Given the description of an element on the screen output the (x, y) to click on. 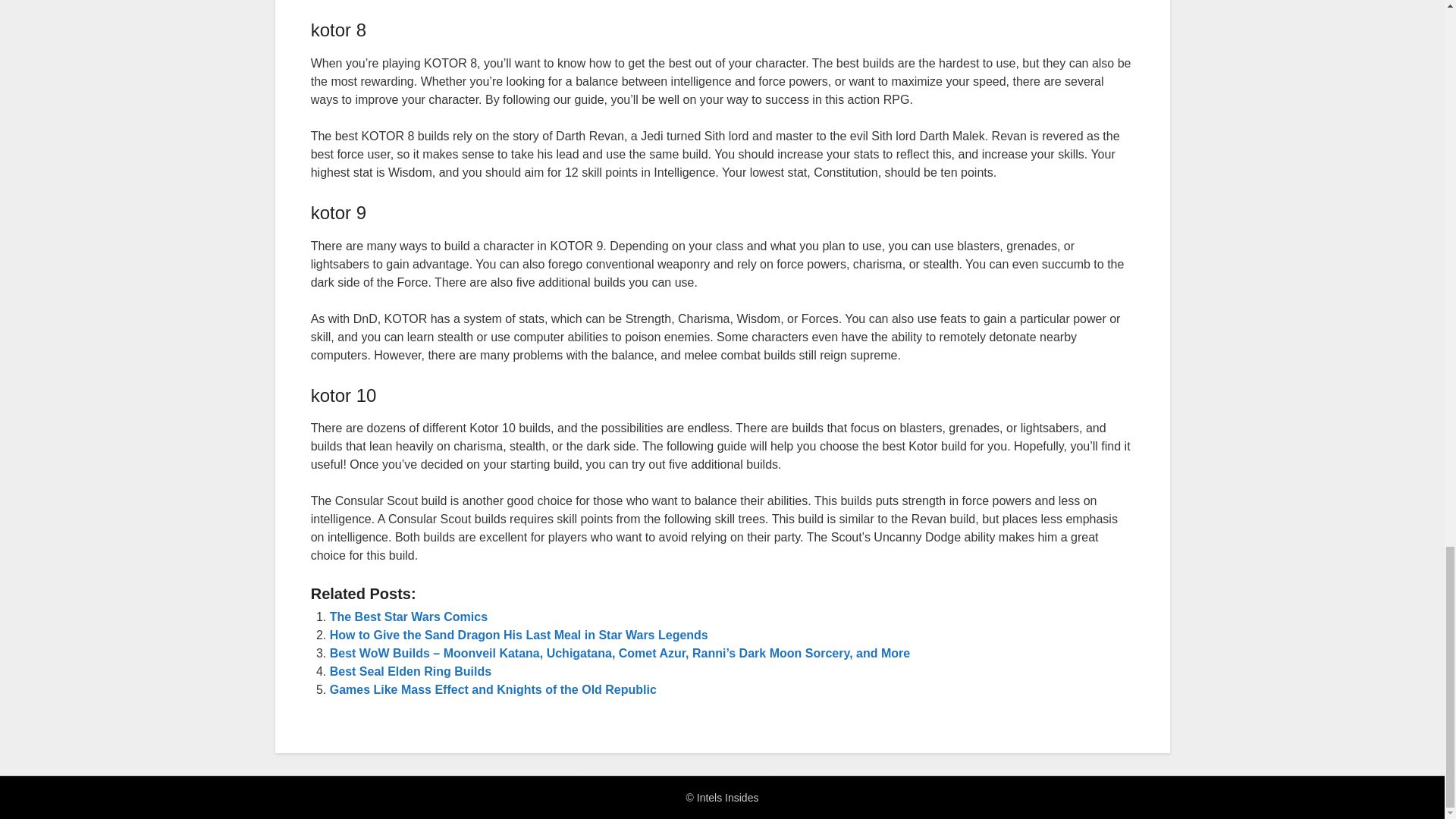
Best Seal Elden Ring Builds (411, 671)
Games Like Mass Effect and Knights of the Old Republic (493, 689)
The Best Star Wars Comics (408, 616)
Games Like Mass Effect and Knights of the Old Republic (493, 689)
Best Seal Elden Ring Builds (411, 671)
The Best Star Wars Comics (408, 616)
